Given the description of an element on the screen output the (x, y) to click on. 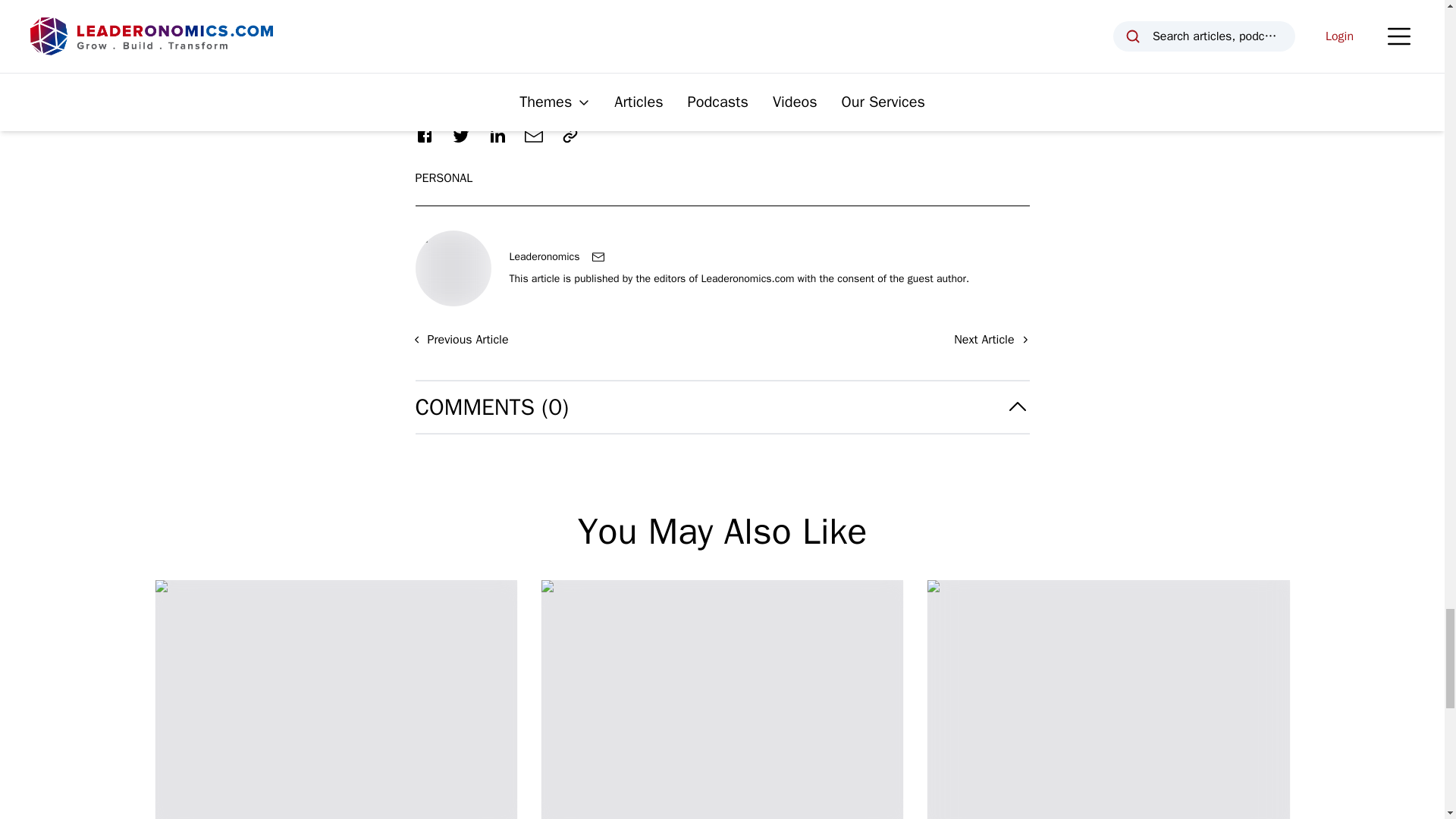
here (460, 10)
Leaderonomics (544, 256)
Previous Article (460, 339)
Next Article (991, 339)
